Given the description of an element on the screen output the (x, y) to click on. 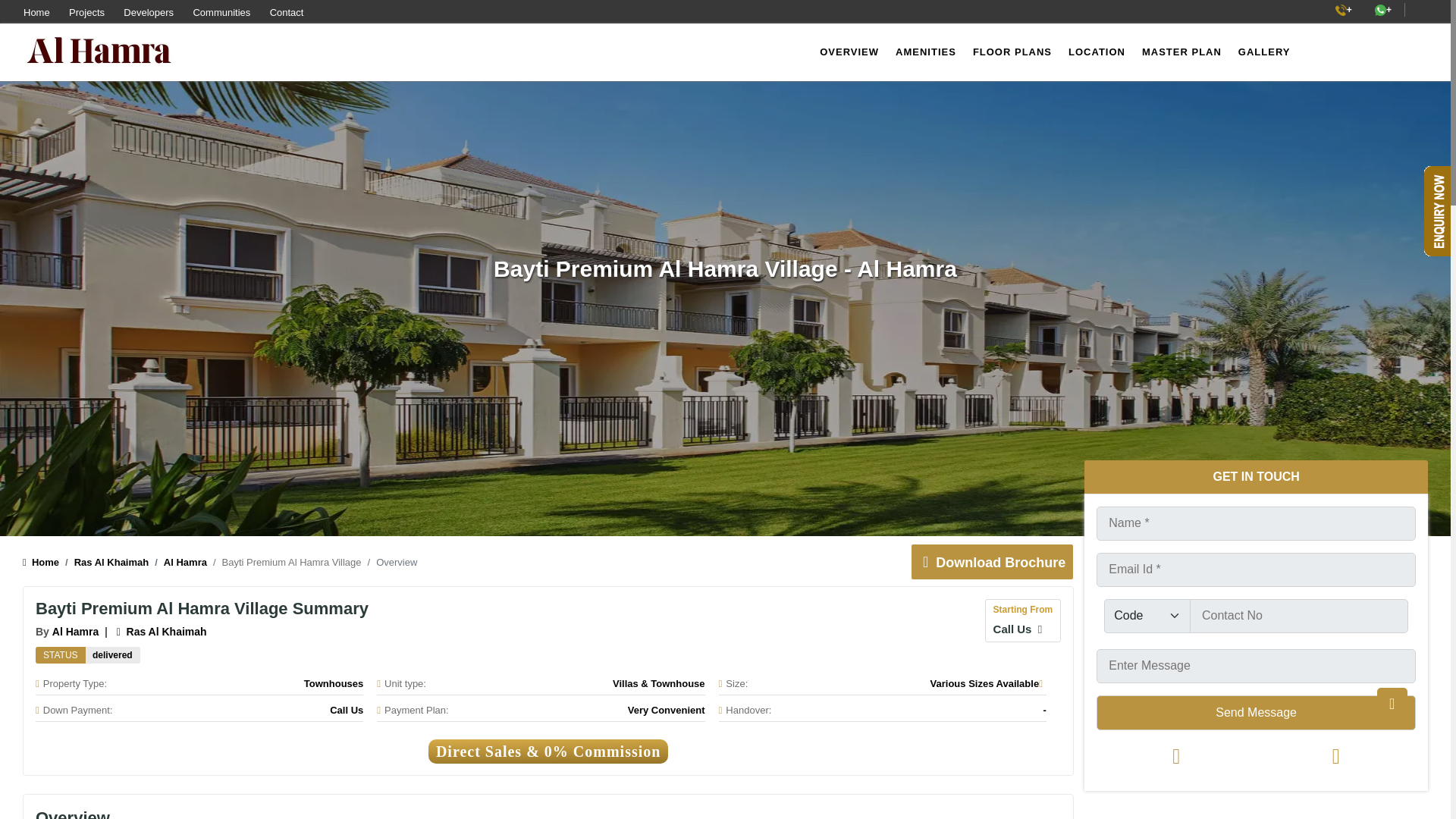
Al Hamra (75, 631)
OVERVIEW (849, 52)
  Home (41, 562)
Downtown Dubai (161, 631)
Al Hamra (75, 631)
MASTER PLAN (1181, 52)
Developers (148, 12)
Download Brochure (990, 562)
Send Message (1255, 711)
Communities (221, 12)
AMENITIES (925, 52)
Bayti Premium Al Hamra Village (112, 655)
FLOOR PLANS (1012, 52)
LOCATION (1096, 52)
Projects (87, 12)
